Given the description of an element on the screen output the (x, y) to click on. 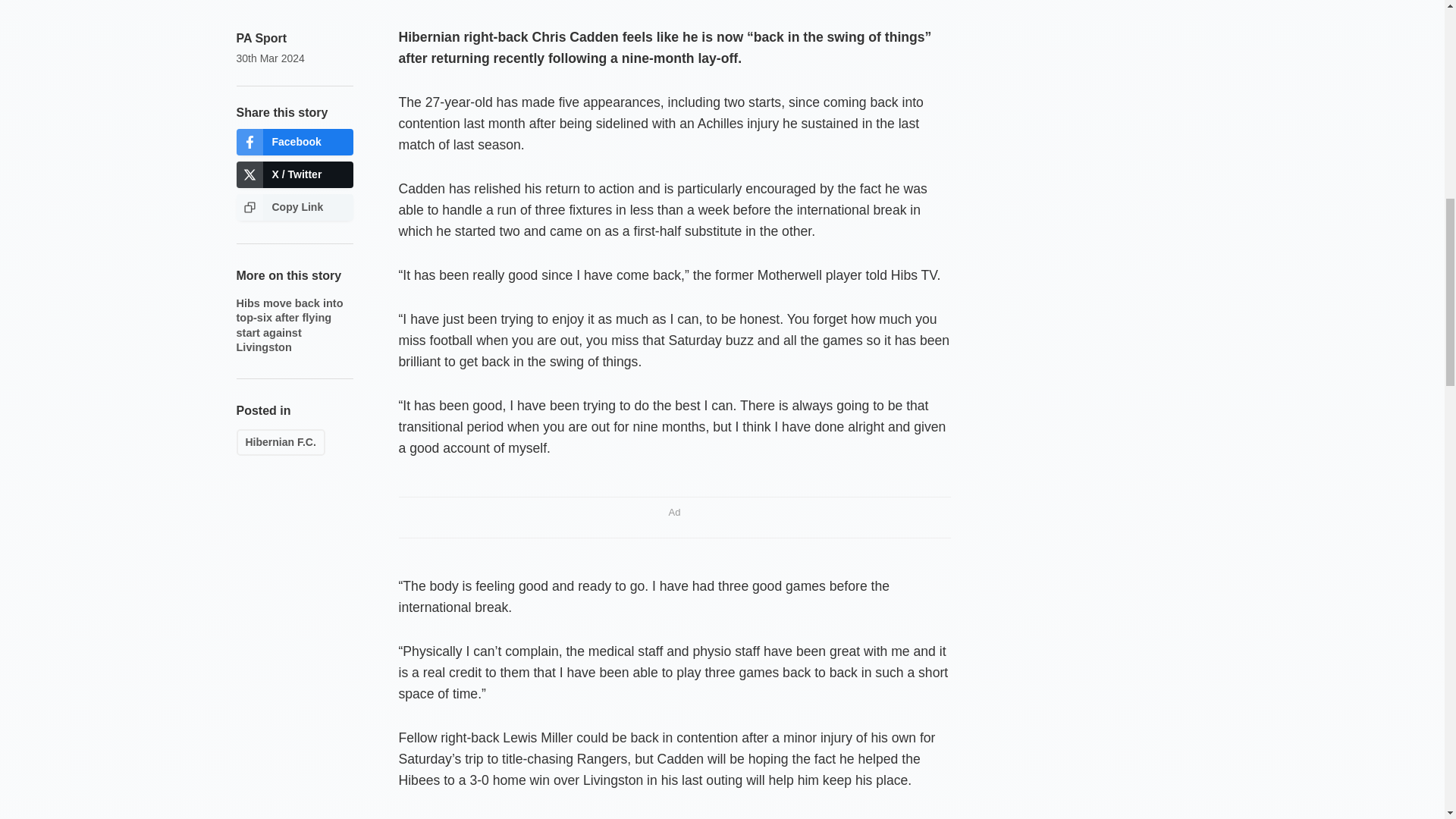
Facebook (294, 141)
